Given the description of an element on the screen output the (x, y) to click on. 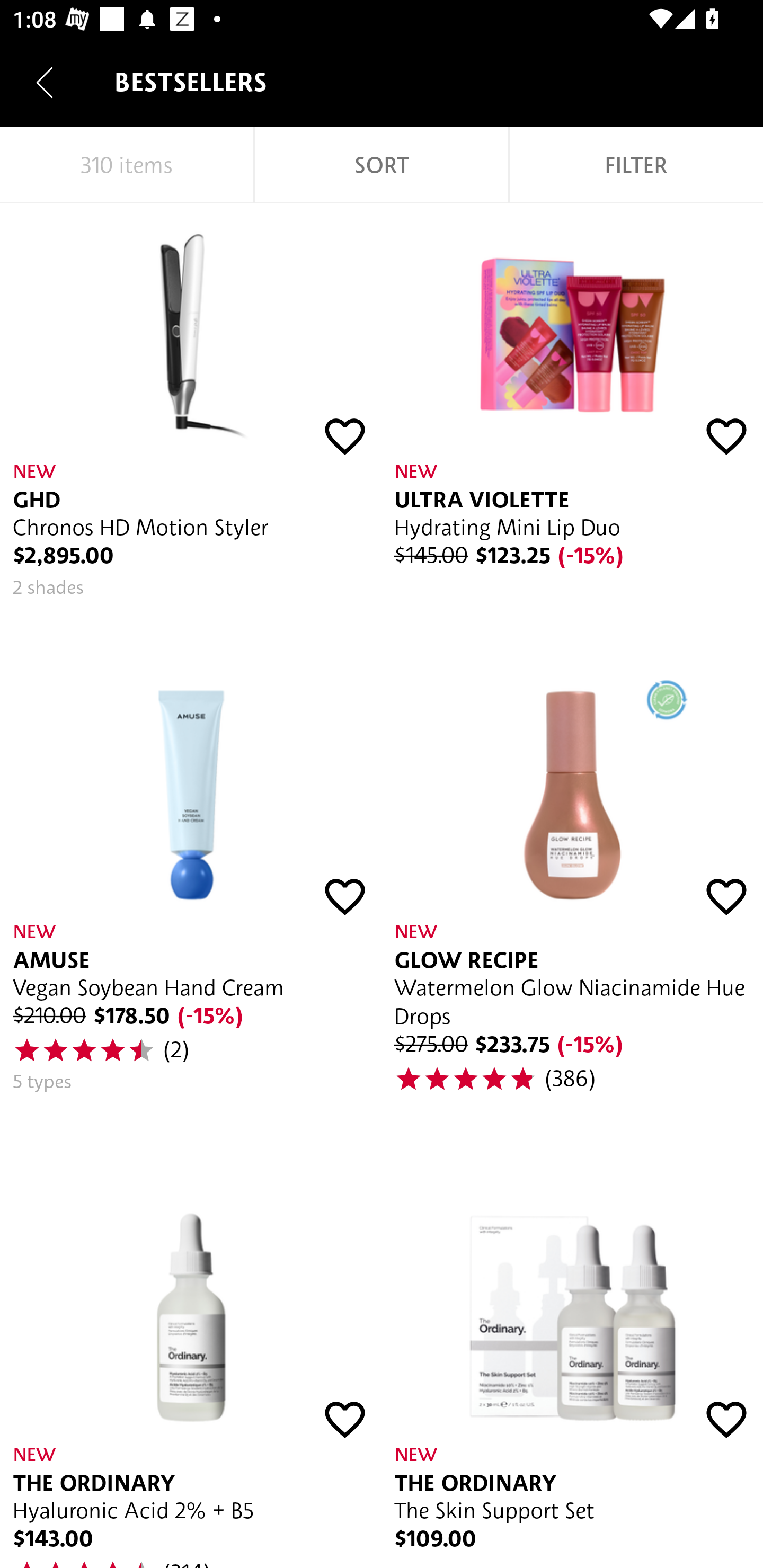
Navigate up (44, 82)
SORT (381, 165)
FILTER (636, 165)
NEW THE ORDINARY The Skin Support Set $109.00 (572, 1351)
